Given the description of an element on the screen output the (x, y) to click on. 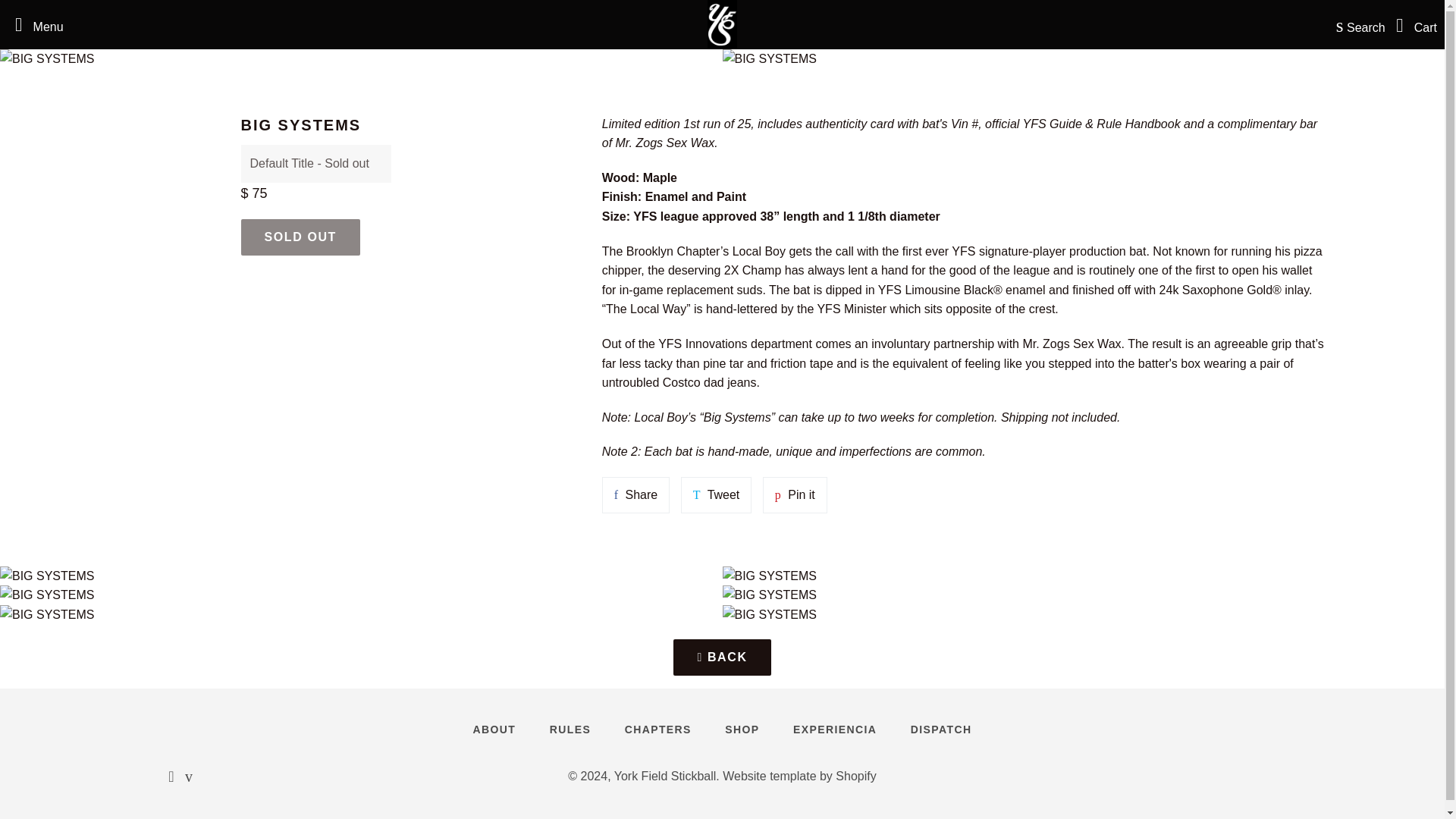
Share on Facebook (635, 494)
Menu (716, 494)
BACK (35, 24)
CHAPTERS (721, 657)
SOLD OUT (658, 730)
Tweet on Twitter (300, 237)
York Field Stickball (716, 494)
Pin on Pinterest (665, 775)
